Given the description of an element on the screen output the (x, y) to click on. 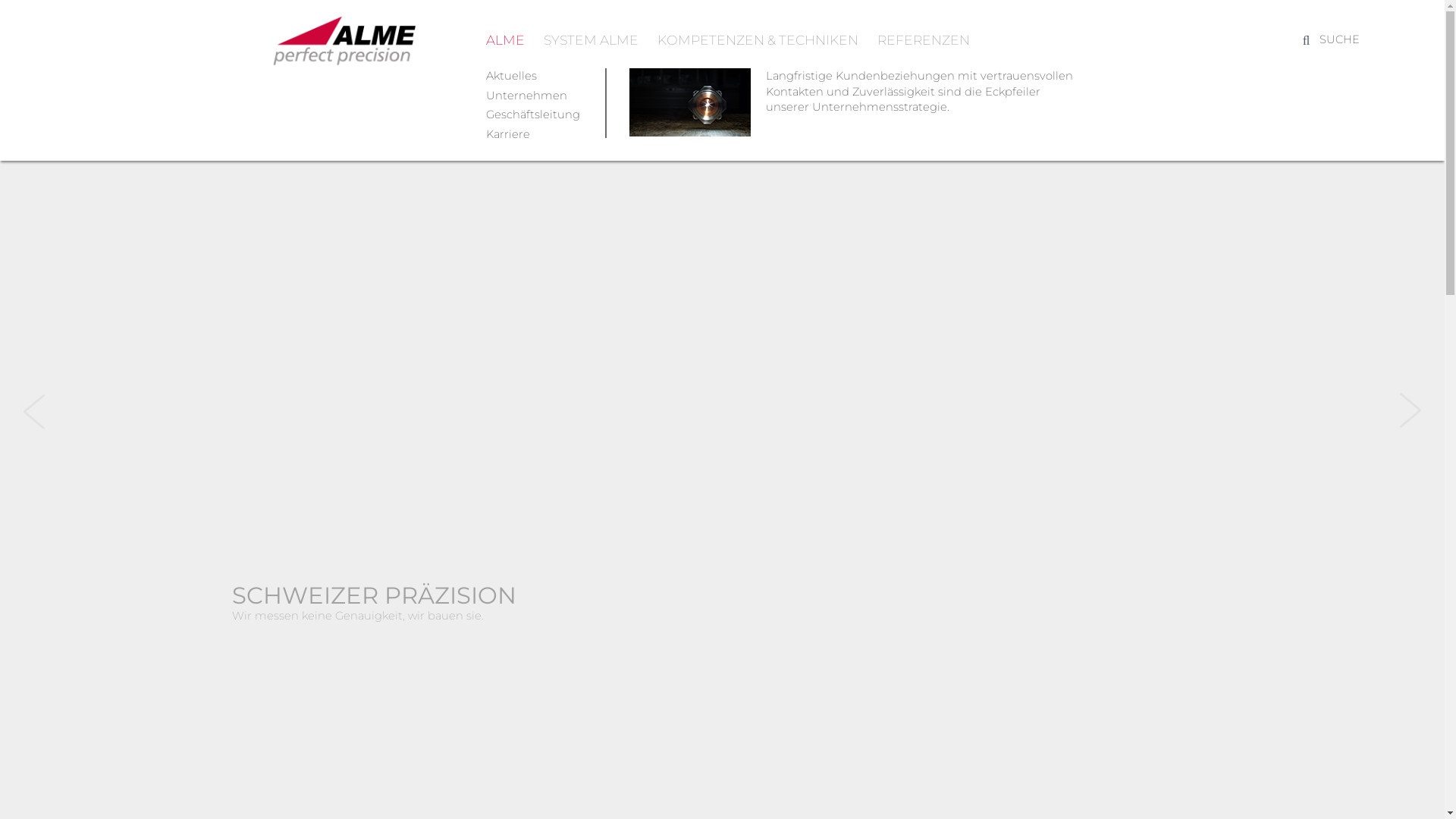
Unternehmen Element type: text (525, 95)
SYSTEM ALME Element type: text (589, 39)
KOMPETENZEN & TECHNIKEN Element type: text (756, 39)
Aktuelles Element type: text (510, 75)
ALME Element type: text (504, 39)
REFERENZEN Element type: text (922, 39)
Karriere Element type: text (507, 134)
